Given the description of an element on the screen output the (x, y) to click on. 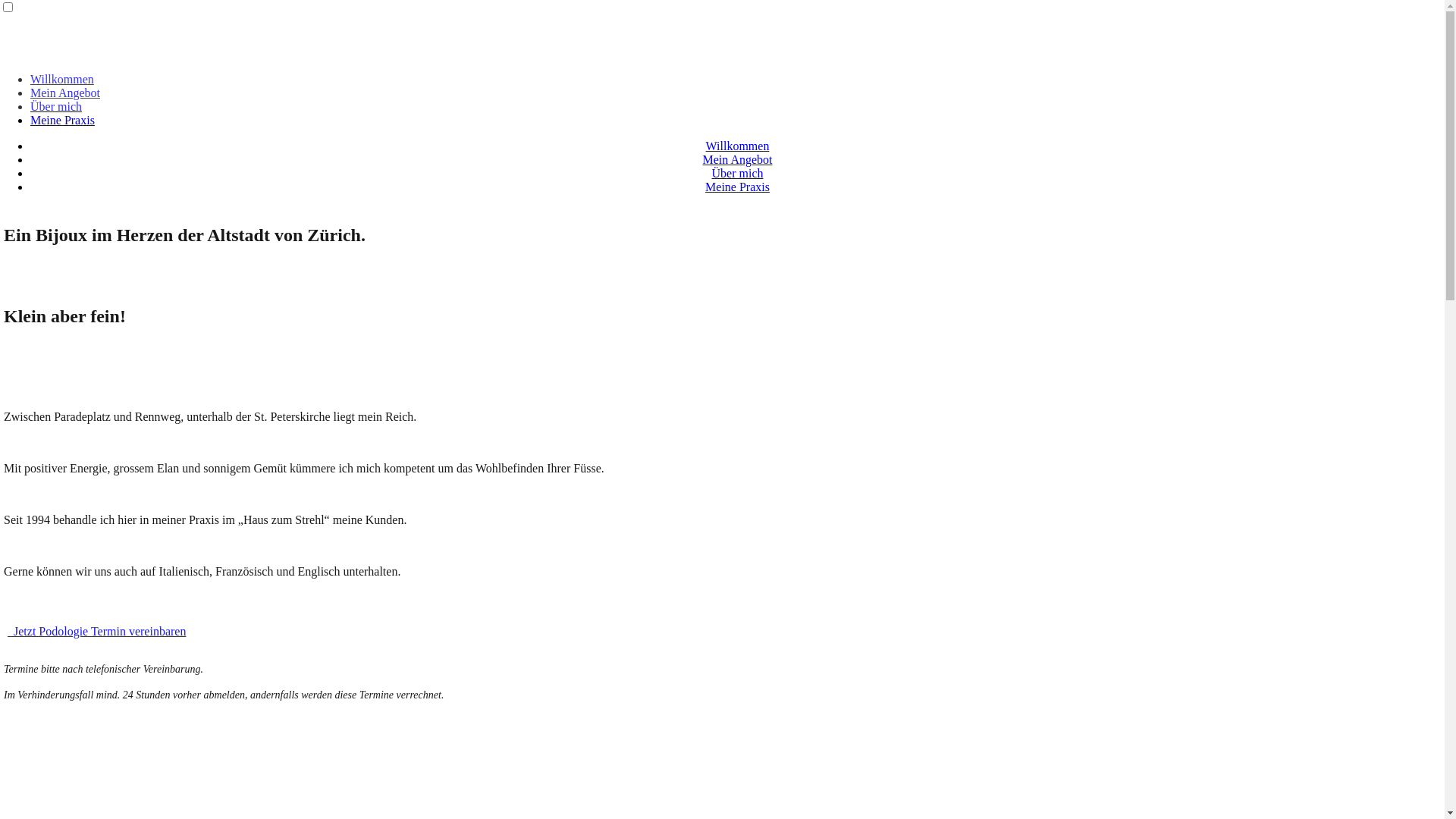
Mein Angebot Element type: text (65, 92)
Meine Praxis Element type: text (62, 119)
Mein Angebot Element type: text (736, 159)
Meine Praxis Element type: text (737, 186)
Willkommen Element type: text (737, 145)
Willkommen Element type: text (62, 78)
  Jetzt Podologie Termin vereinbaren Element type: text (96, 630)
